Given the description of an element on the screen output the (x, y) to click on. 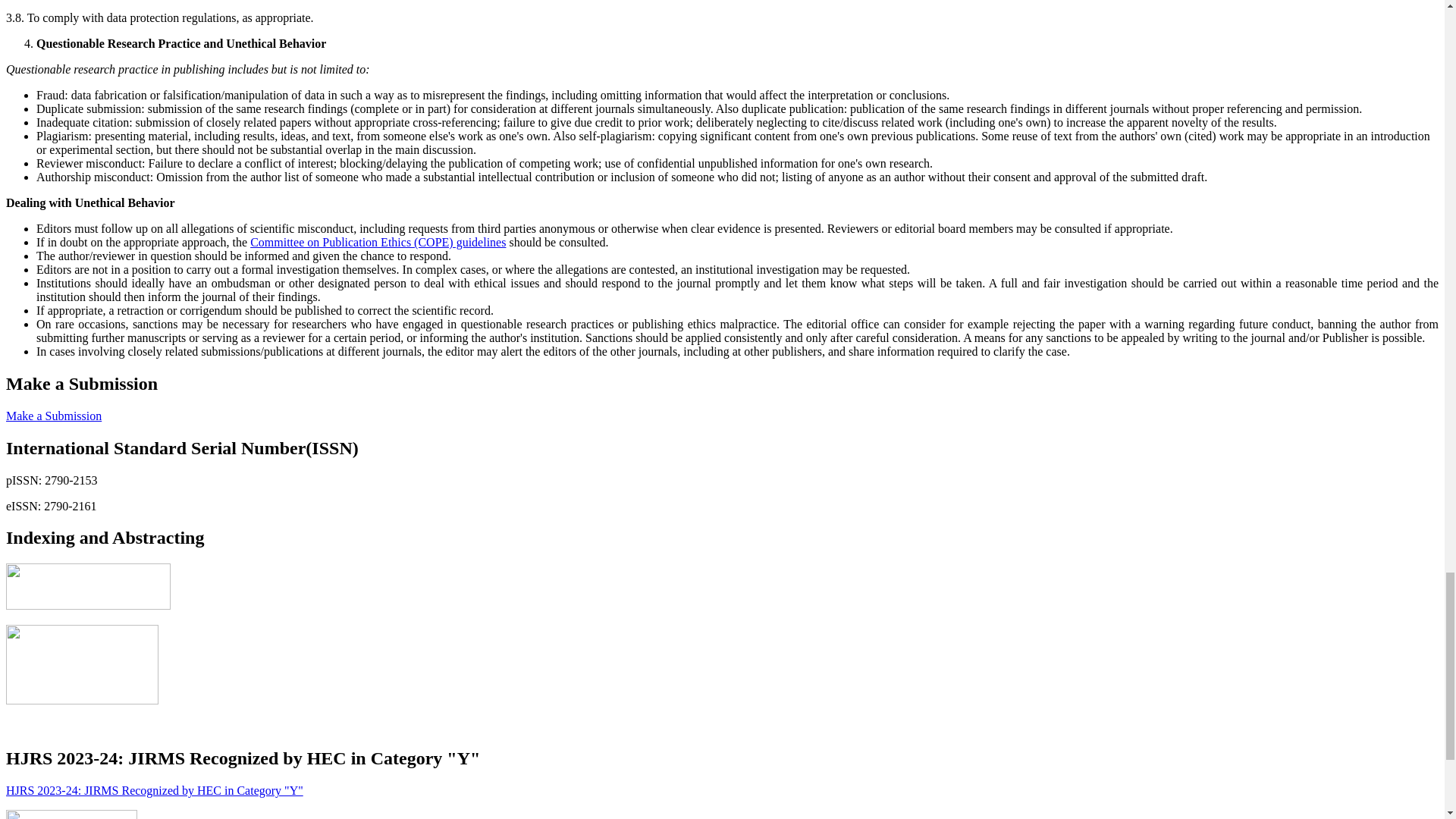
Make a Submission (53, 415)
HJRS 2023-24: JIRMS Recognized by HEC in Category "Y" (153, 789)
